Given the description of an element on the screen output the (x, y) to click on. 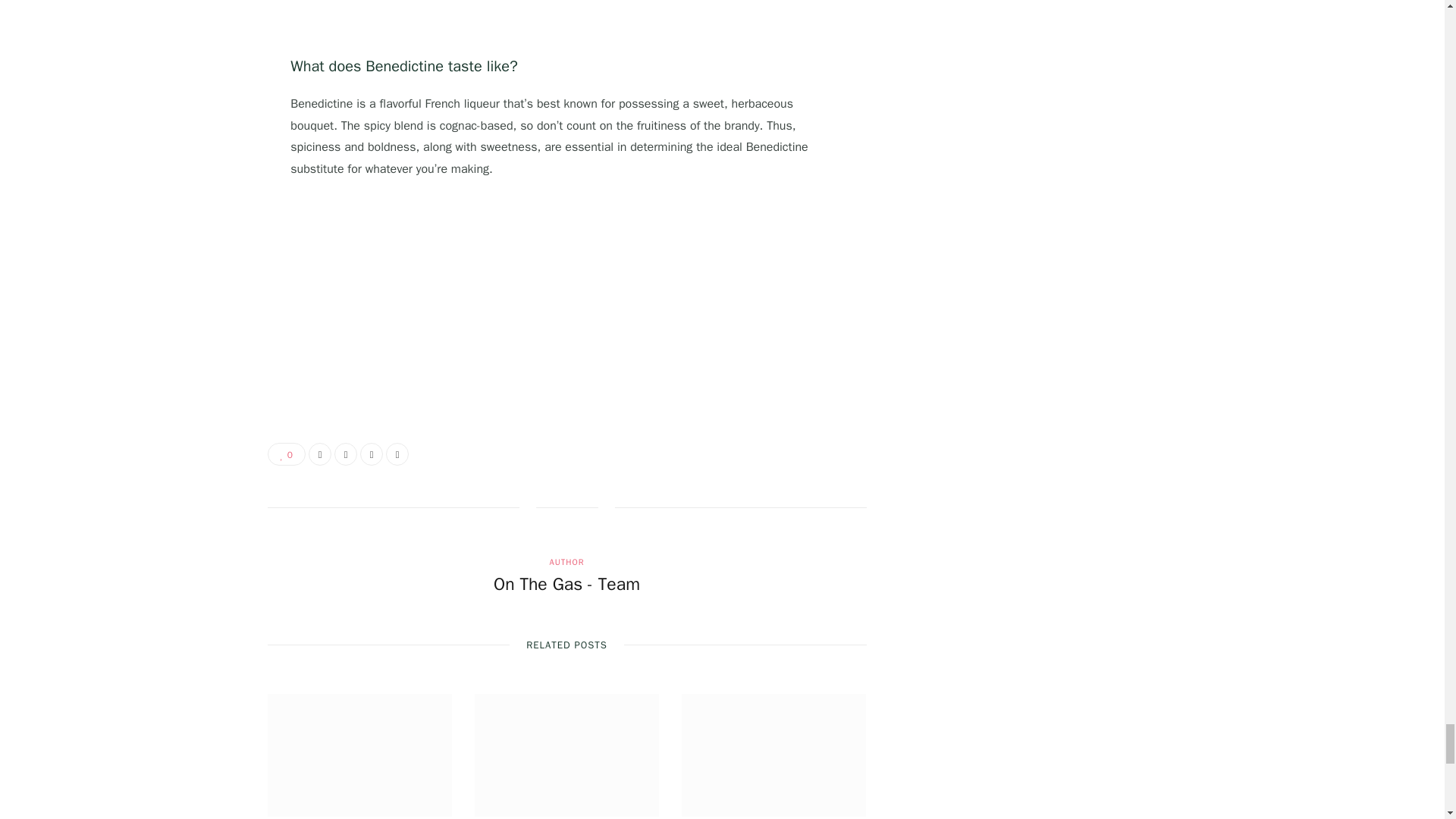
Pinterest (370, 454)
Posts by On The Gas - Team (566, 584)
Share on Twitter (345, 454)
Share on Facebook (319, 454)
Email (397, 454)
